Given the description of an element on the screen output the (x, y) to click on. 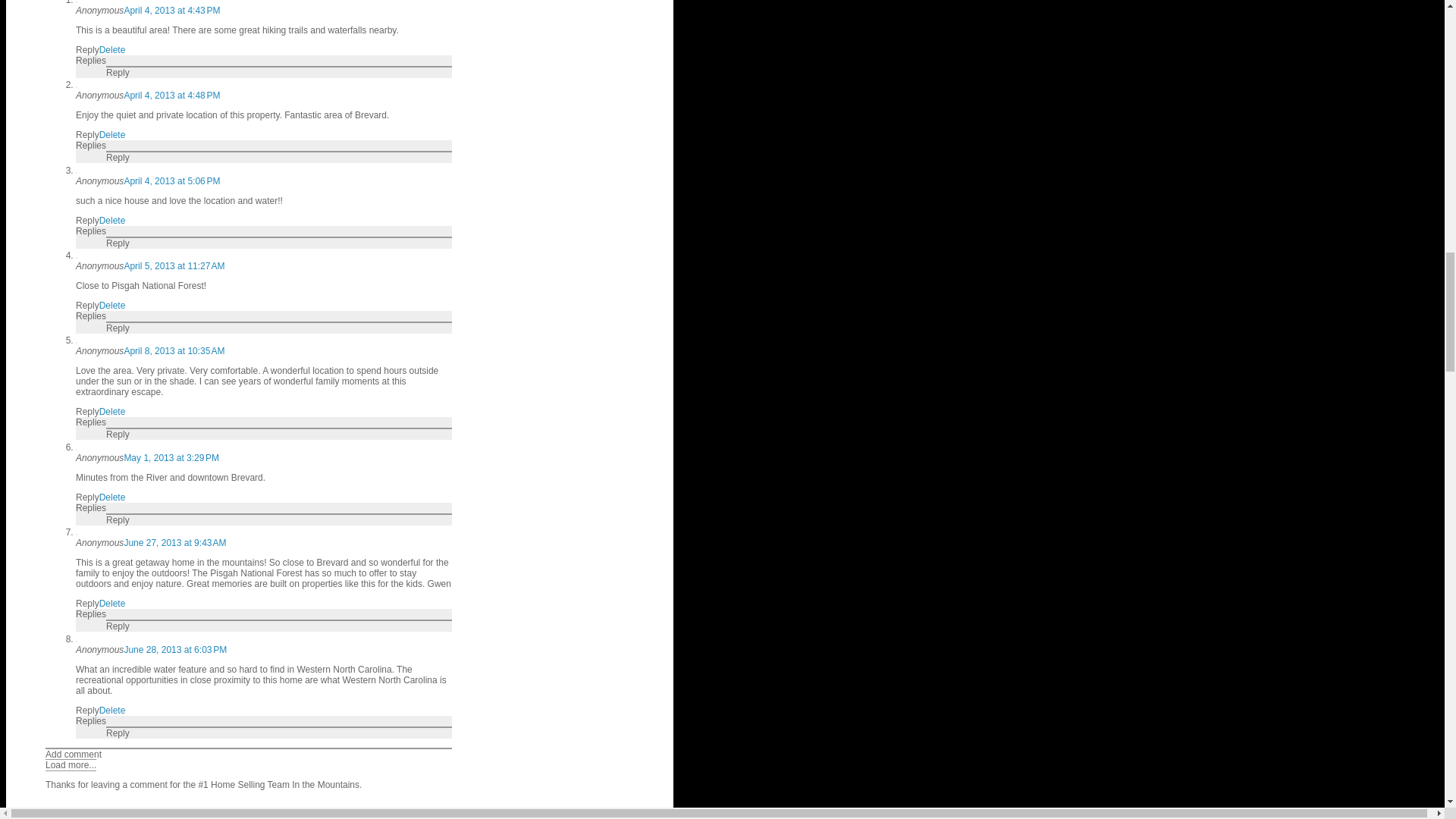
Reply (117, 157)
Reply (87, 220)
Delete (112, 134)
Replies (90, 231)
Delete (112, 50)
Replies (90, 145)
Delete (112, 220)
Reply (87, 50)
Reply (117, 72)
Replies (90, 60)
Reply (87, 134)
